Given the description of an element on the screen output the (x, y) to click on. 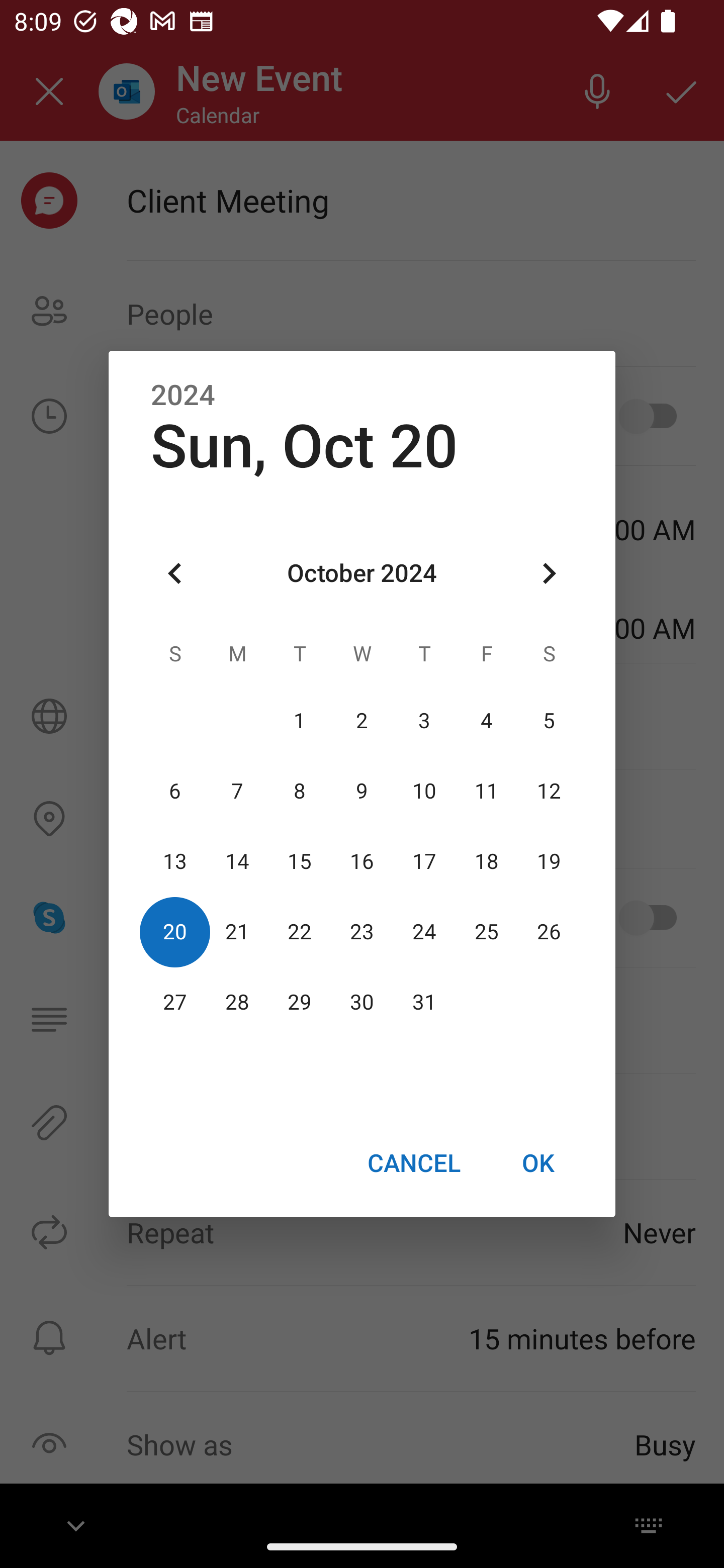
2024 (182, 395)
Sun, Oct 20 (304, 446)
Previous month (174, 573)
Next month (548, 573)
1 01 October 2024 (299, 720)
2 02 October 2024 (361, 720)
3 03 October 2024 (424, 720)
4 04 October 2024 (486, 720)
5 05 October 2024 (548, 720)
6 06 October 2024 (175, 790)
7 07 October 2024 (237, 790)
8 08 October 2024 (299, 790)
9 09 October 2024 (361, 790)
10 10 October 2024 (424, 790)
11 11 October 2024 (486, 790)
12 12 October 2024 (548, 790)
13 13 October 2024 (175, 861)
14 14 October 2024 (237, 861)
15 15 October 2024 (299, 861)
16 16 October 2024 (361, 861)
17 17 October 2024 (424, 861)
18 18 October 2024 (486, 861)
19 19 October 2024 (548, 861)
20 20 October 2024 (175, 931)
21 21 October 2024 (237, 931)
22 22 October 2024 (299, 931)
23 23 October 2024 (361, 931)
24 24 October 2024 (424, 931)
25 25 October 2024 (486, 931)
26 26 October 2024 (548, 931)
27 27 October 2024 (175, 1002)
28 28 October 2024 (237, 1002)
29 29 October 2024 (299, 1002)
30 30 October 2024 (361, 1002)
31 31 October 2024 (424, 1002)
CANCEL (413, 1162)
OK (537, 1162)
